Given the description of an element on the screen output the (x, y) to click on. 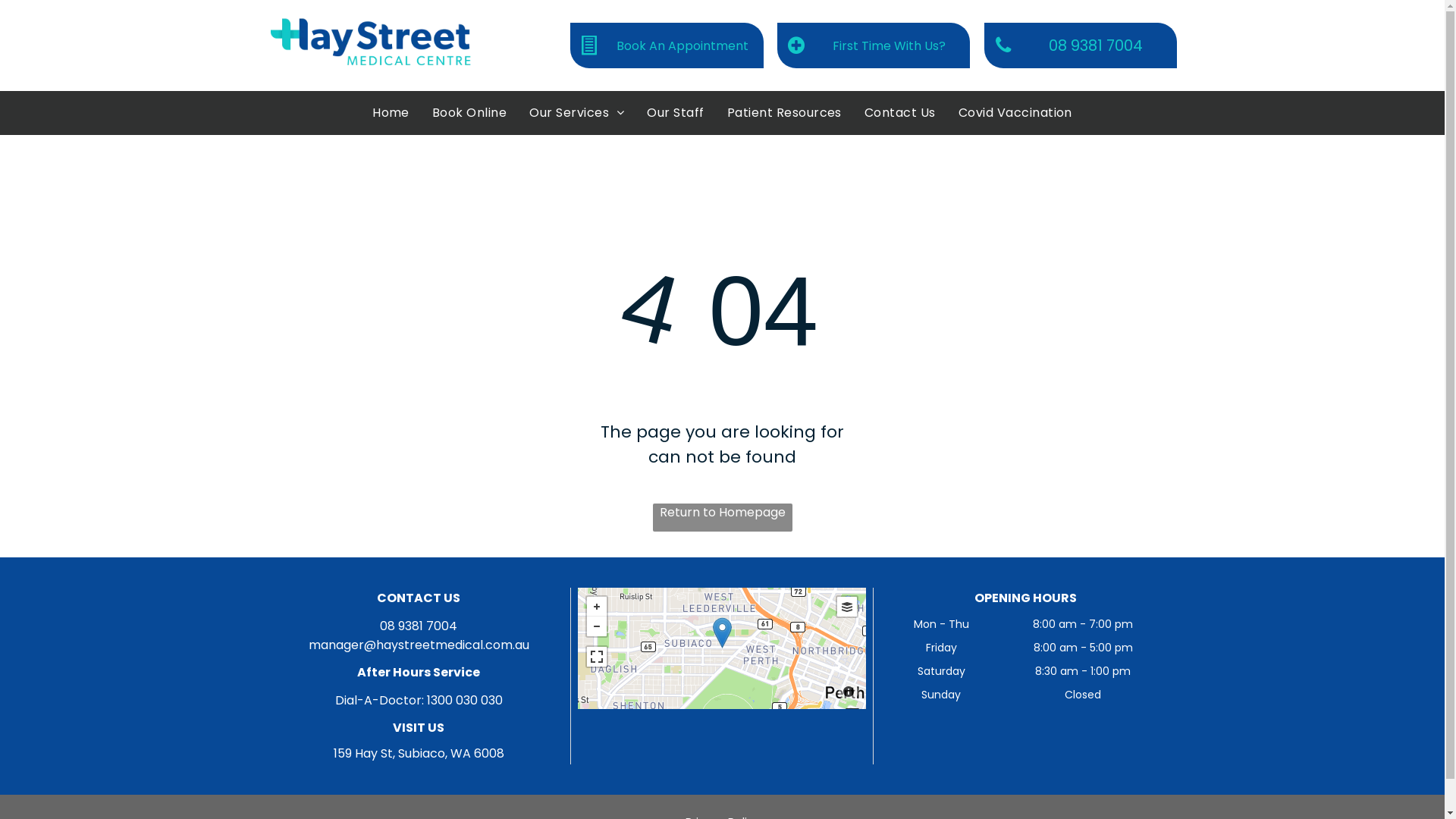
Home Element type: text (390, 112)
Contact Us Element type: text (900, 112)
Return to Homepage Element type: text (721, 517)
08 9381 7004 Element type: text (1080, 45)
08 9381 7004 Element type: text (418, 625)
First Time With Us? Element type: text (873, 45)
1300 030 030 Element type: text (464, 700)
manager@haystreetmedical.com.au Element type: text (418, 644)
Book Online Element type: text (468, 112)
- Element type: text (596, 626)
Layers Element type: hover (846, 606)
Our Staff Element type: text (675, 112)
Patient Resources Element type: text (784, 112)
Covid Vaccination Element type: text (1015, 112)
Our Services Element type: text (576, 112)
Book An Appointment Element type: text (666, 45)
+ Element type: text (596, 606)
View Fullscreen Element type: hover (596, 656)
